Given the description of an element on the screen output the (x, y) to click on. 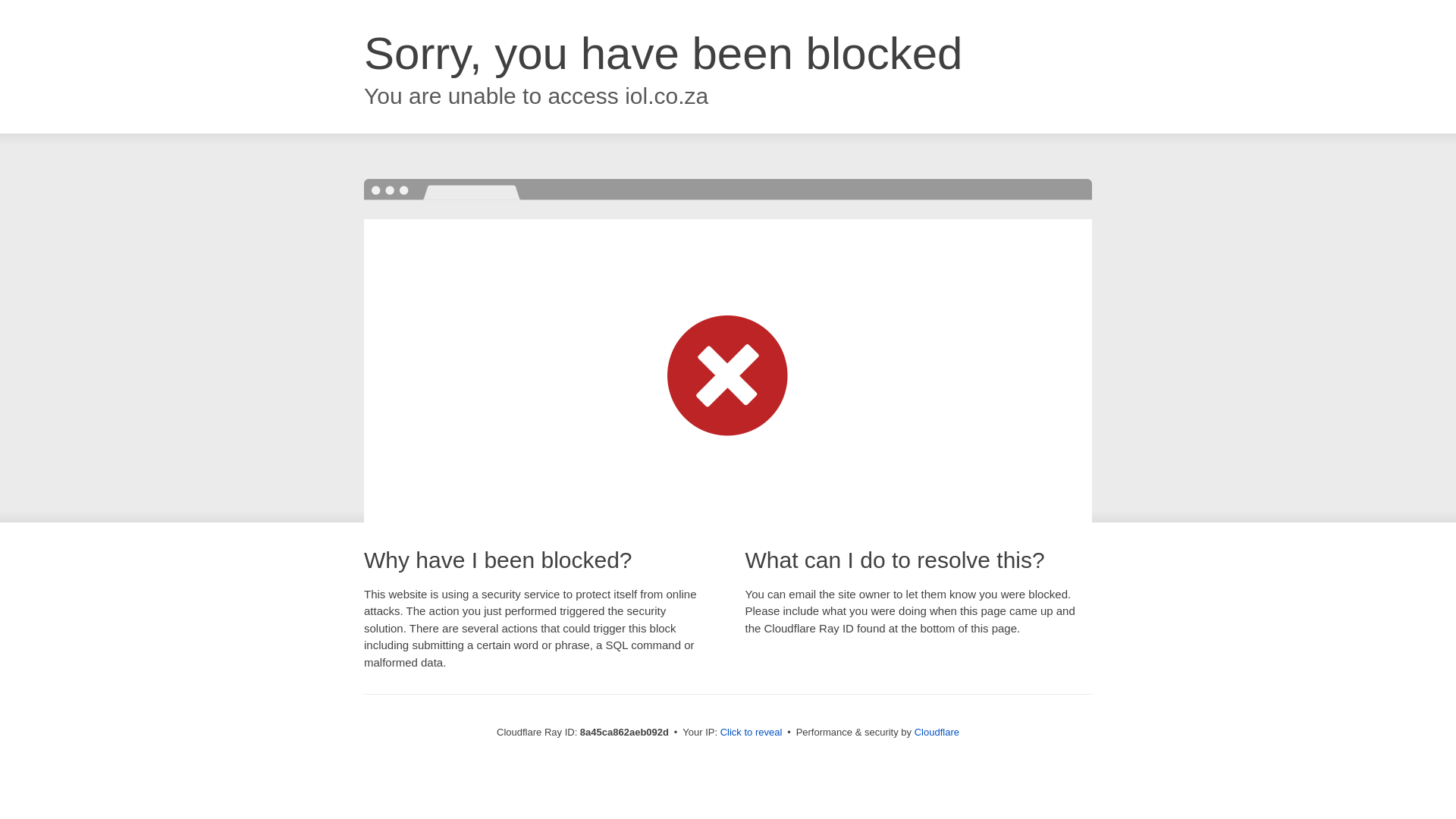
Click to reveal (751, 732)
Cloudflare (936, 731)
